Given the description of an element on the screen output the (x, y) to click on. 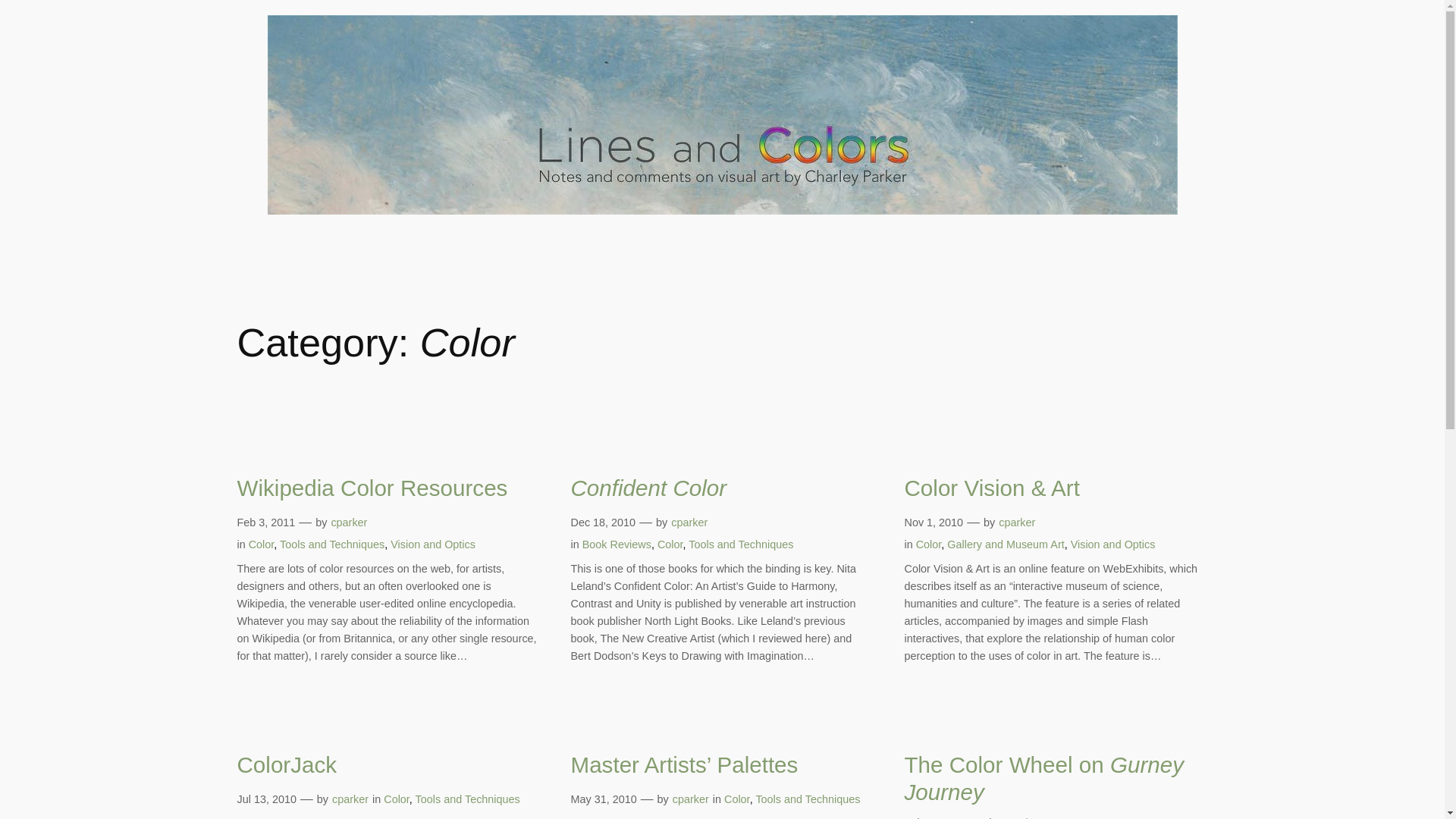
Vision and Optics (433, 544)
Tools and Techniques (807, 799)
cparker (689, 522)
Confident Color (648, 488)
Book Reviews (616, 544)
Feb 3, 2011 (265, 522)
cparker (1022, 817)
cparker (1016, 522)
ColorJack (285, 764)
Color (396, 799)
Tools and Techniques (466, 799)
Color (736, 799)
Feb 23, 2010 (936, 817)
cparker (349, 799)
Gallery and Museum Art (1005, 544)
